Given the description of an element on the screen output the (x, y) to click on. 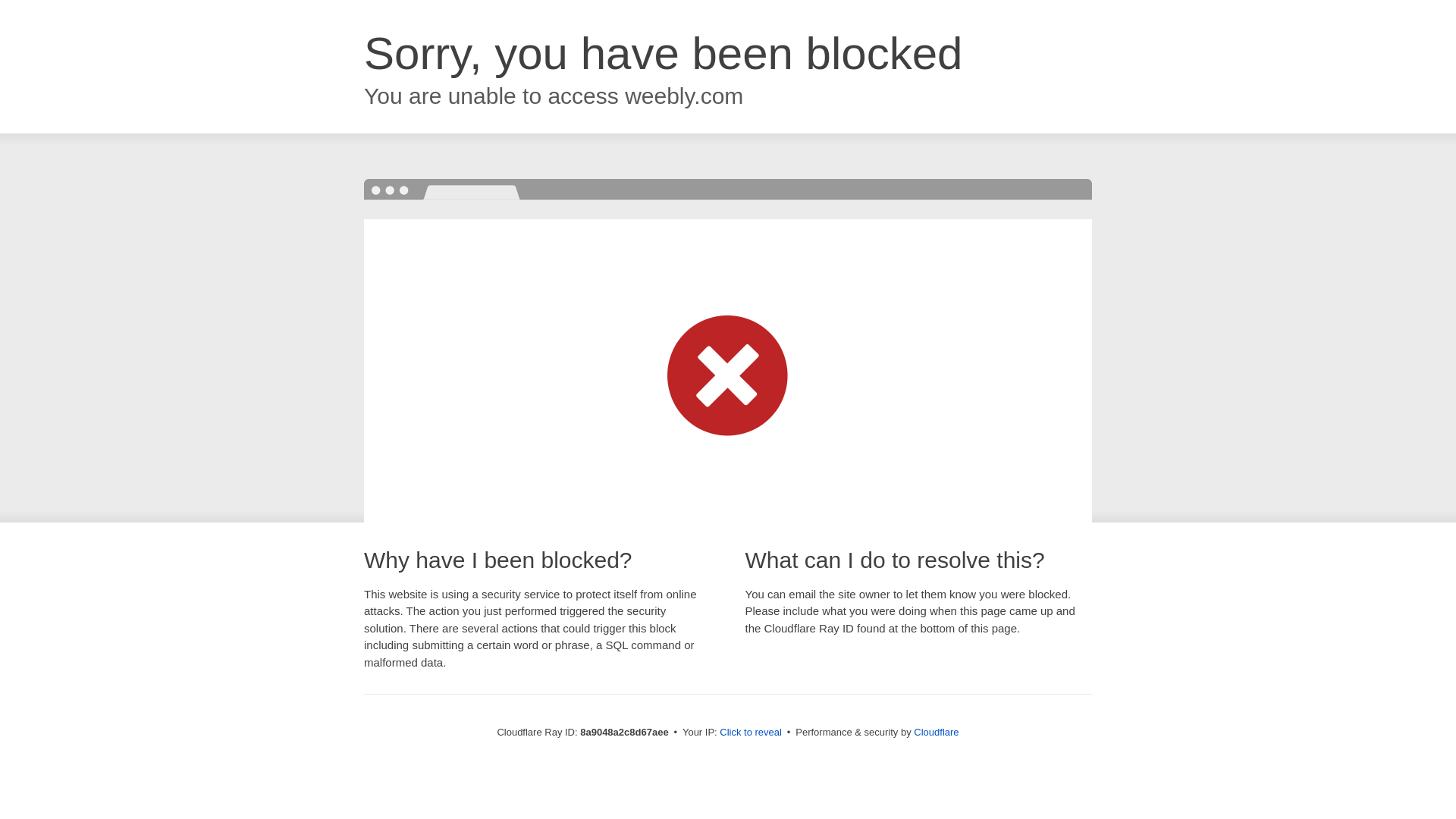
Click to reveal (750, 732)
Cloudflare (936, 731)
